Given the description of an element on the screen output the (x, y) to click on. 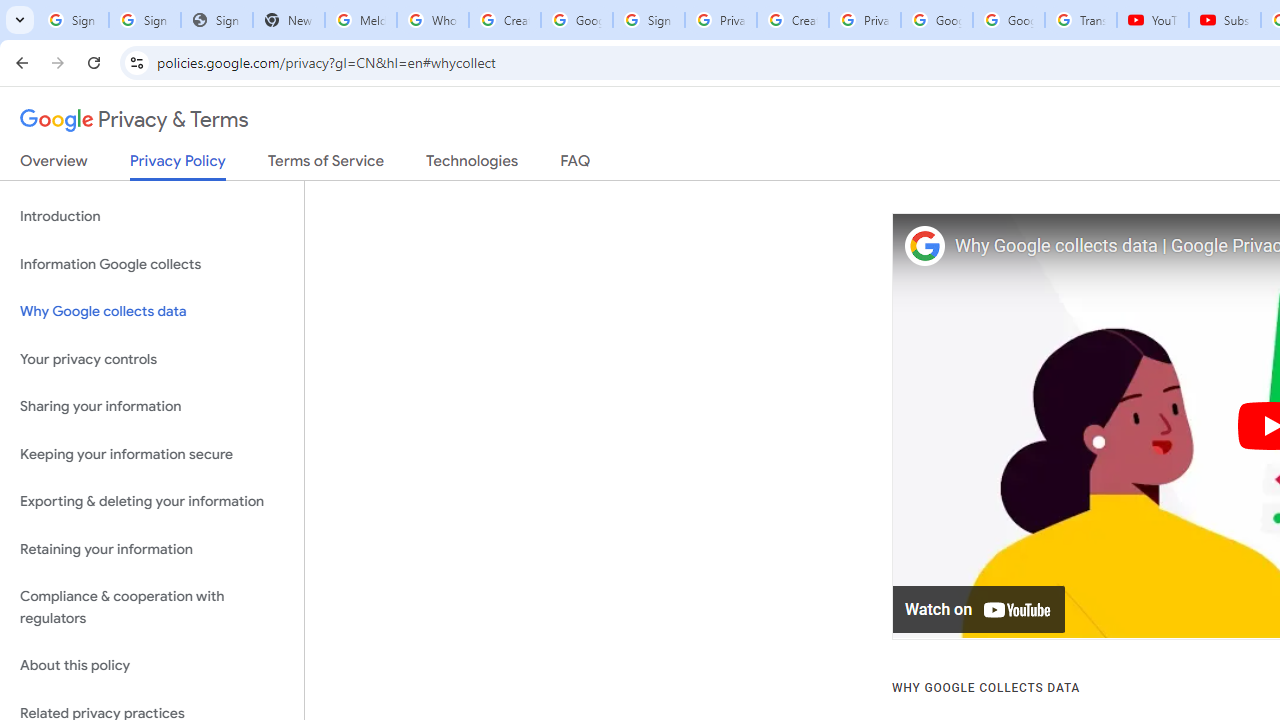
Create your Google Account (504, 20)
Who is my administrator? - Google Account Help (432, 20)
Sign in - Google Accounts (144, 20)
Your privacy controls (152, 358)
Google Account (1008, 20)
YouTube (1153, 20)
Sign in - Google Accounts (648, 20)
Information Google collects (152, 263)
Compliance & cooperation with regulators (152, 607)
